Given the description of an element on the screen output the (x, y) to click on. 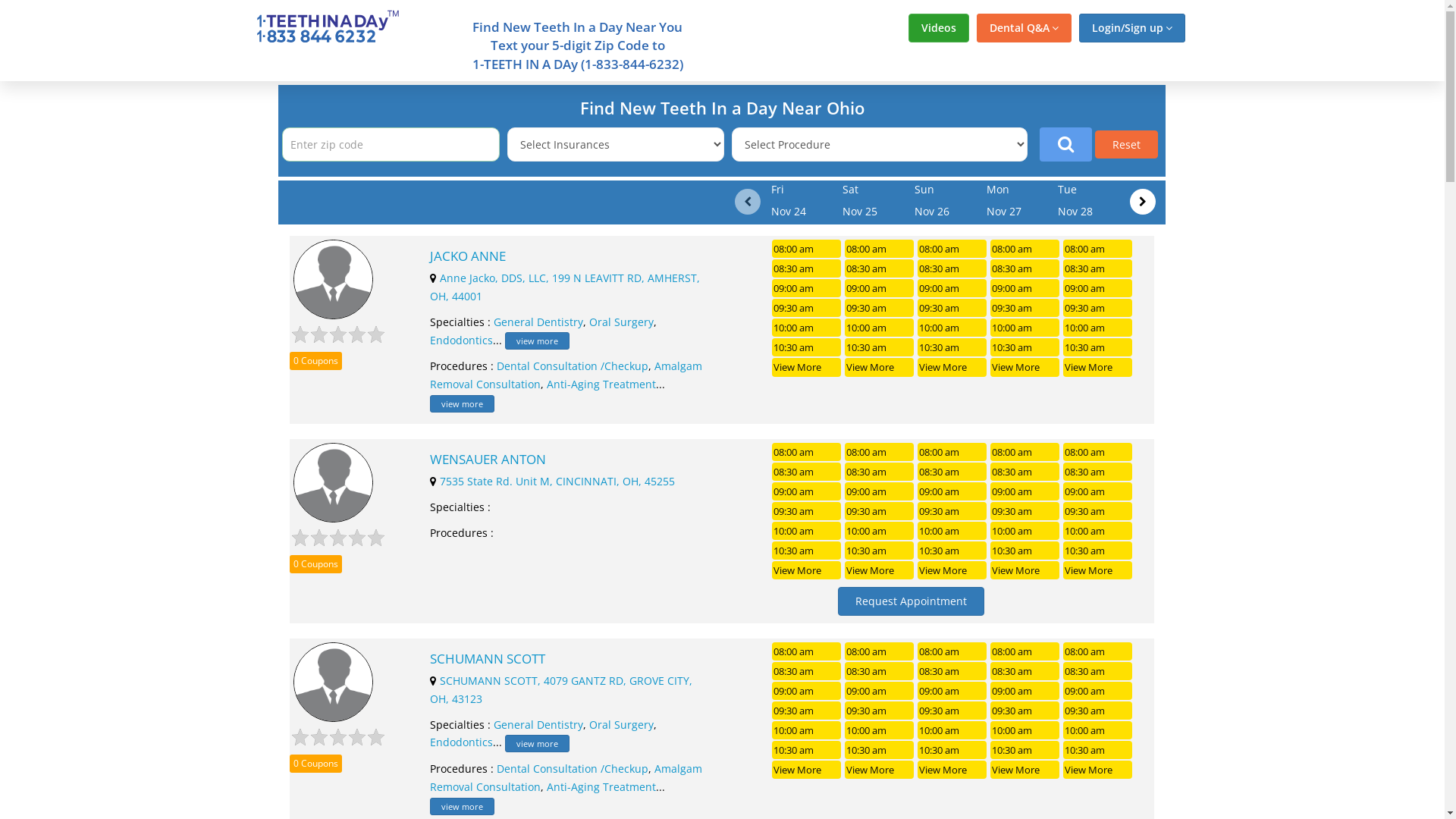
08:00 am Element type: text (1097, 651)
09:00 am Element type: text (878, 690)
10:00 am Element type: text (805, 730)
09:30 am Element type: text (1097, 307)
08:30 am Element type: text (805, 268)
Anti-Aging Treatment Element type: text (600, 383)
10:30 am Element type: text (1024, 347)
0 Coupons Element type: text (315, 564)
10:30 am Element type: text (1024, 550)
08:30 am Element type: text (878, 268)
Advertisement Element type: hover (129, 308)
08:30 am Element type: text (1097, 268)
View More Element type: text (1024, 570)
View More Element type: text (878, 366)
Oral Surgery Element type: text (621, 321)
09:30 am Element type: text (805, 710)
09:00 am Element type: text (1024, 288)
10:00 am Element type: text (805, 327)
08:00 am Element type: text (805, 651)
View More Element type: text (951, 769)
View More Element type: text (878, 570)
08:00 am Element type: text (951, 248)
Endodontics Element type: text (460, 741)
09:00 am Element type: text (951, 288)
09:00 am Element type: text (1097, 288)
10:30 am Element type: text (1097, 550)
10:00 am Element type: text (1024, 327)
WENSAUER ANTON Element type: text (567, 459)
10:30 am Element type: text (805, 347)
08:00 am Element type: text (805, 451)
09:30 am Element type: text (1097, 511)
10:00 am Element type: text (1097, 327)
10:00 am Element type: text (805, 530)
Videos Element type: text (938, 27)
view more Element type: text (537, 743)
08:00 am Element type: text (1024, 248)
10:30 am Element type: text (951, 550)
10:30 am Element type: text (1097, 347)
General Dentistry Element type: text (538, 321)
10:00 am Element type: text (878, 530)
10:00 am Element type: text (951, 730)
08:30 am Element type: text (951, 671)
Advertisement Element type: hover (1313, 308)
JACKO ANNE Element type: text (567, 256)
10:00 am Element type: text (1024, 530)
10:30 am Element type: text (878, 550)
Anti-Aging Treatment Element type: text (600, 786)
Dental Consultation /Checkup Element type: text (572, 768)
View More Element type: text (1024, 769)
09:00 am Element type: text (1024, 491)
09:00 am Element type: text (805, 690)
08:30 am Element type: text (951, 268)
10:00 am Element type: text (1024, 730)
09:30 am Element type: text (805, 511)
10:30 am Element type: text (951, 749)
08:00 am Element type: text (878, 651)
Dental Consultation /Checkup Element type: text (572, 365)
09:00 am Element type: text (805, 288)
09:30 am Element type: text (1024, 511)
09:30 am Element type: text (878, 710)
0 Coupons Element type: text (315, 763)
09:00 am Element type: text (878, 491)
08:00 am Element type: text (1097, 451)
View More Element type: text (805, 769)
09:00 am Element type: text (1024, 690)
08:00 am Element type: text (951, 651)
Amalgam Removal Consultation Element type: text (565, 777)
09:00 am Element type: text (1097, 491)
10:30 am Element type: text (805, 550)
08:00 am Element type: text (1097, 248)
SCHUMANN SCOTT Element type: text (567, 658)
08:00 am Element type: text (1024, 651)
08:30 am Element type: text (878, 471)
7535 State Rd. Unit M, CINCINNATI, OH, 45255 Element type: text (556, 480)
08:30 am Element type: text (1097, 671)
08:30 am Element type: text (1024, 268)
09:30 am Element type: text (1024, 307)
10:00 am Element type: text (1097, 730)
view more Element type: text (461, 806)
View More Element type: text (805, 570)
08:00 am Element type: text (1024, 451)
09:30 am Element type: text (951, 511)
10:00 am Element type: text (951, 327)
Anne Jacko, DDS, LLC, 199 N LEAVITT RD, AMHERST, OH, 44001 Element type: text (564, 286)
09:30 am Element type: text (878, 307)
08:30 am Element type: text (878, 671)
09:30 am Element type: text (878, 511)
View More Element type: text (1024, 366)
10:30 am Element type: text (878, 347)
10:00 am Element type: text (878, 730)
view more Element type: text (537, 340)
View More Element type: text (878, 769)
10:30 am Element type: text (1024, 749)
10:00 am Element type: text (878, 327)
09:30 am Element type: text (951, 710)
SCHUMANN SCOTT, 4079 GANTZ RD, GROVE CITY, OH, 43123 Element type: text (560, 689)
View More Element type: text (1097, 366)
Oral Surgery Element type: text (621, 724)
Reset Element type: text (1126, 144)
10:30 am Element type: text (805, 749)
Request Appointment Element type: text (910, 600)
View More Element type: text (1097, 769)
08:30 am Element type: text (1024, 671)
General Dentistry Element type: text (538, 724)
08:30 am Element type: text (1024, 471)
09:30 am Element type: text (951, 307)
08:30 am Element type: text (805, 671)
09:00 am Element type: text (1097, 690)
Amalgam Removal Consultation Element type: text (565, 374)
09:00 am Element type: text (951, 690)
09:30 am Element type: text (805, 307)
view more Element type: text (461, 403)
08:30 am Element type: text (951, 471)
Login/Sign up Element type: text (1131, 27)
09:00 am Element type: text (951, 491)
08:00 am Element type: text (878, 451)
09:30 am Element type: text (1097, 710)
View More Element type: text (951, 570)
08:00 am Element type: text (878, 248)
10:30 am Element type: text (878, 749)
10:00 am Element type: text (1097, 530)
10:00 am Element type: text (951, 530)
Dental Q&A Element type: text (1023, 27)
08:30 am Element type: text (1097, 471)
09:00 am Element type: text (805, 491)
09:00 am Element type: text (878, 288)
08:30 am Element type: text (805, 471)
0 Coupons Element type: text (315, 360)
08:00 am Element type: text (951, 451)
View More Element type: text (951, 366)
View More Element type: text (805, 366)
08:00 am Element type: text (805, 248)
10:30 am Element type: text (1097, 749)
Endodontics Element type: text (460, 339)
10:30 am Element type: text (951, 347)
View More Element type: text (1097, 570)
09:30 am Element type: text (1024, 710)
